Given the description of an element on the screen output the (x, y) to click on. 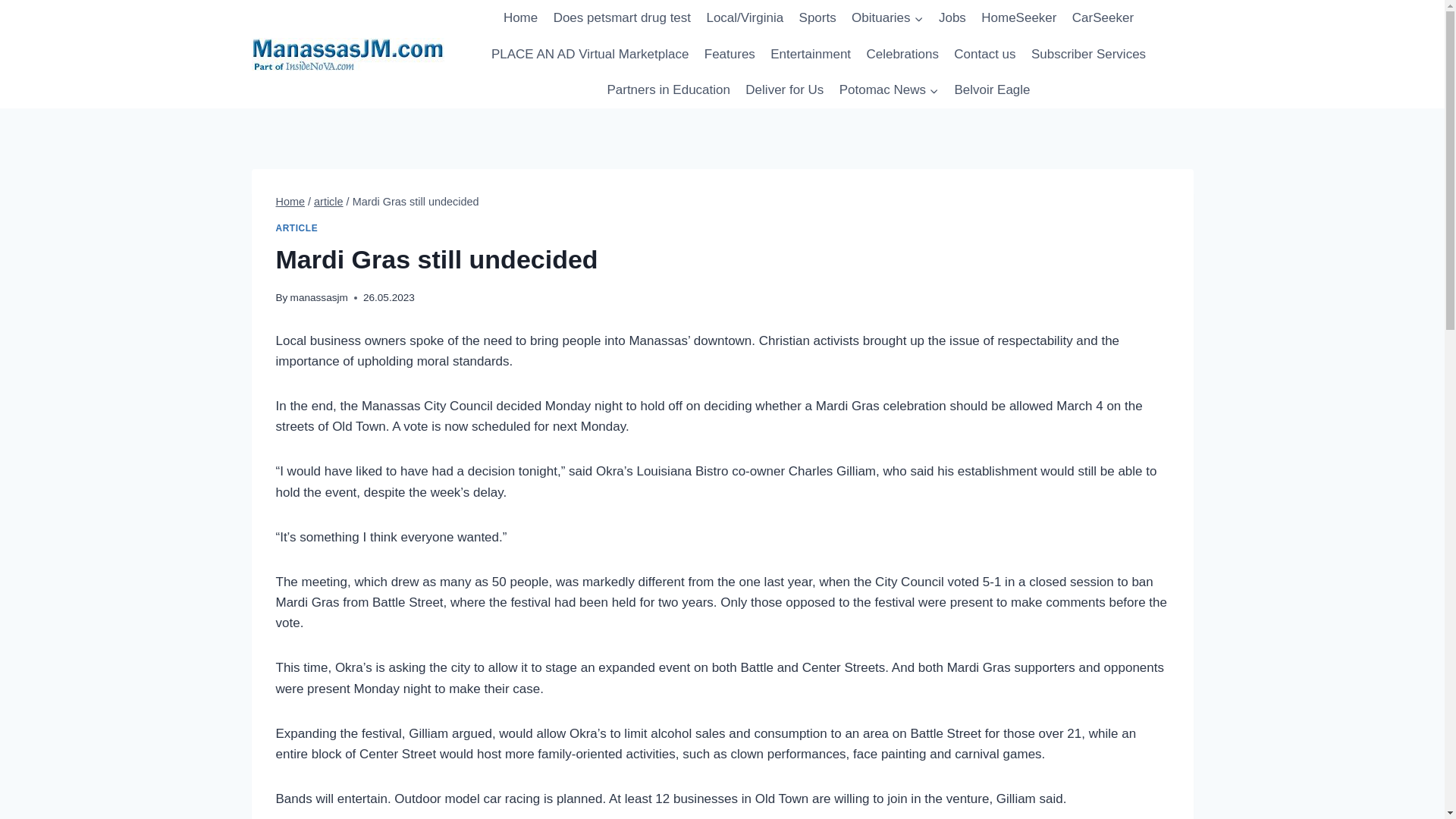
Contact us (984, 54)
article (328, 201)
PLACE AN AD Virtual Marketplace (590, 54)
Deliver for Us (784, 90)
Potomac News (888, 90)
ARTICLE (297, 227)
Partners in Education (668, 90)
Subscriber Services (1088, 54)
Sports (817, 18)
Features (729, 54)
